Given the description of an element on the screen output the (x, y) to click on. 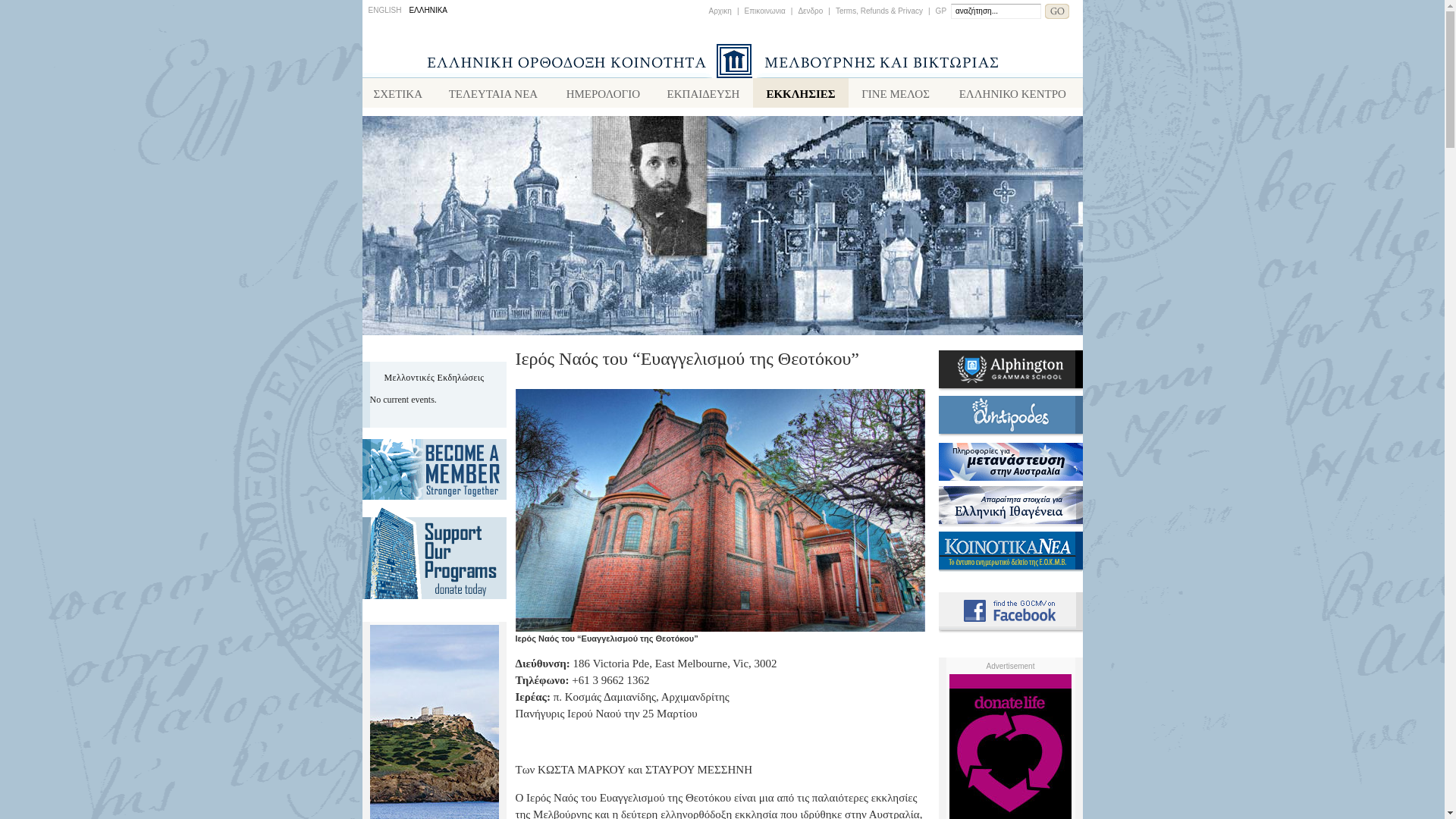
ENGLISH Element type: text (384, 10)
Terms, Refunds & Privacy Element type: text (878, 10)
GP Element type: text (940, 10)
GO Element type: text (1056, 10)
Alphington Grammar Element type: hover (1010, 387)
